Given the description of an element on the screen output the (x, y) to click on. 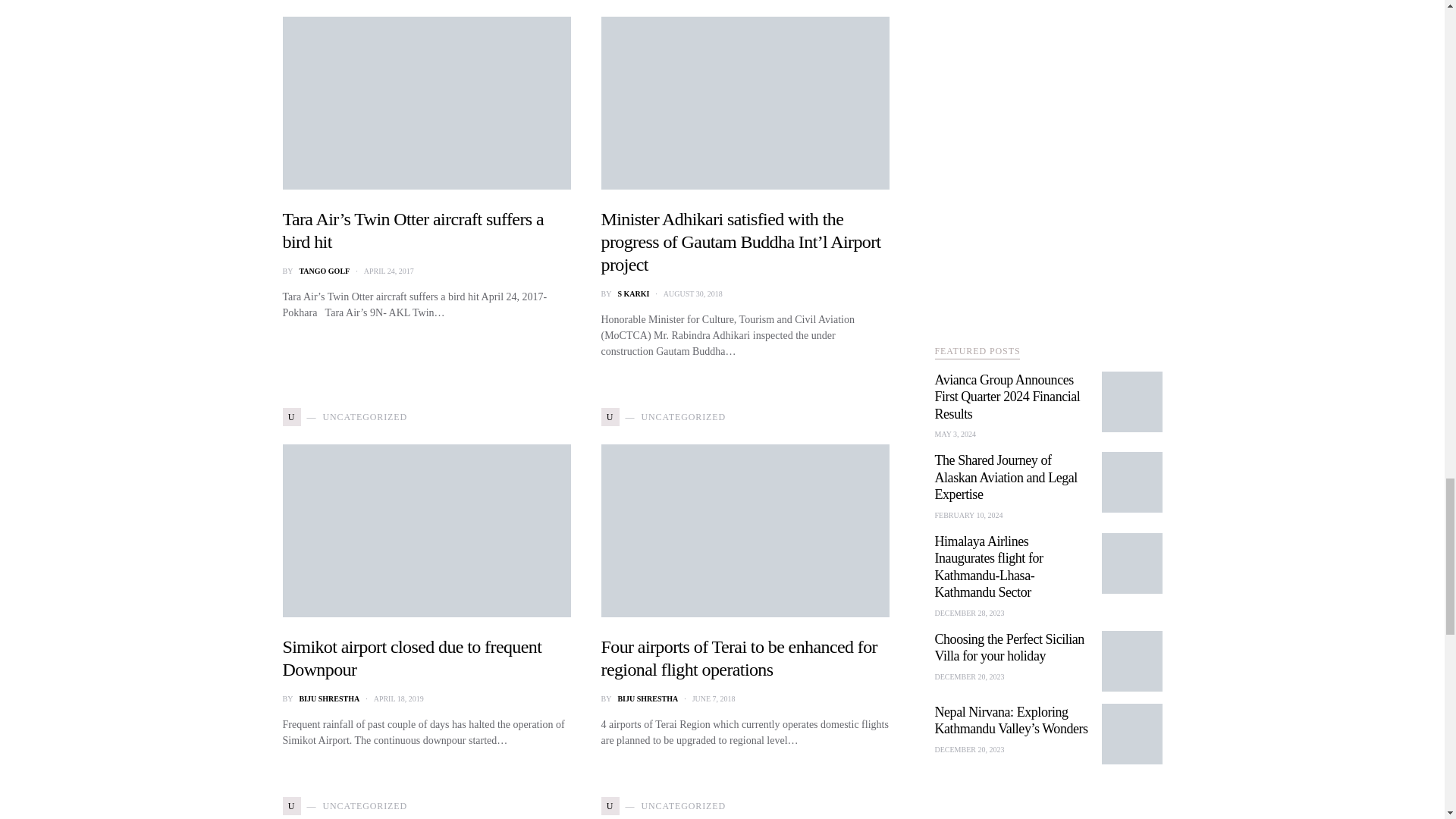
View all posts by S Karki (633, 293)
View all posts by Tango Golf (323, 270)
View all posts by Biju Shrestha (647, 698)
View all posts by Biju Shrestha (328, 698)
